Given the description of an element on the screen output the (x, y) to click on. 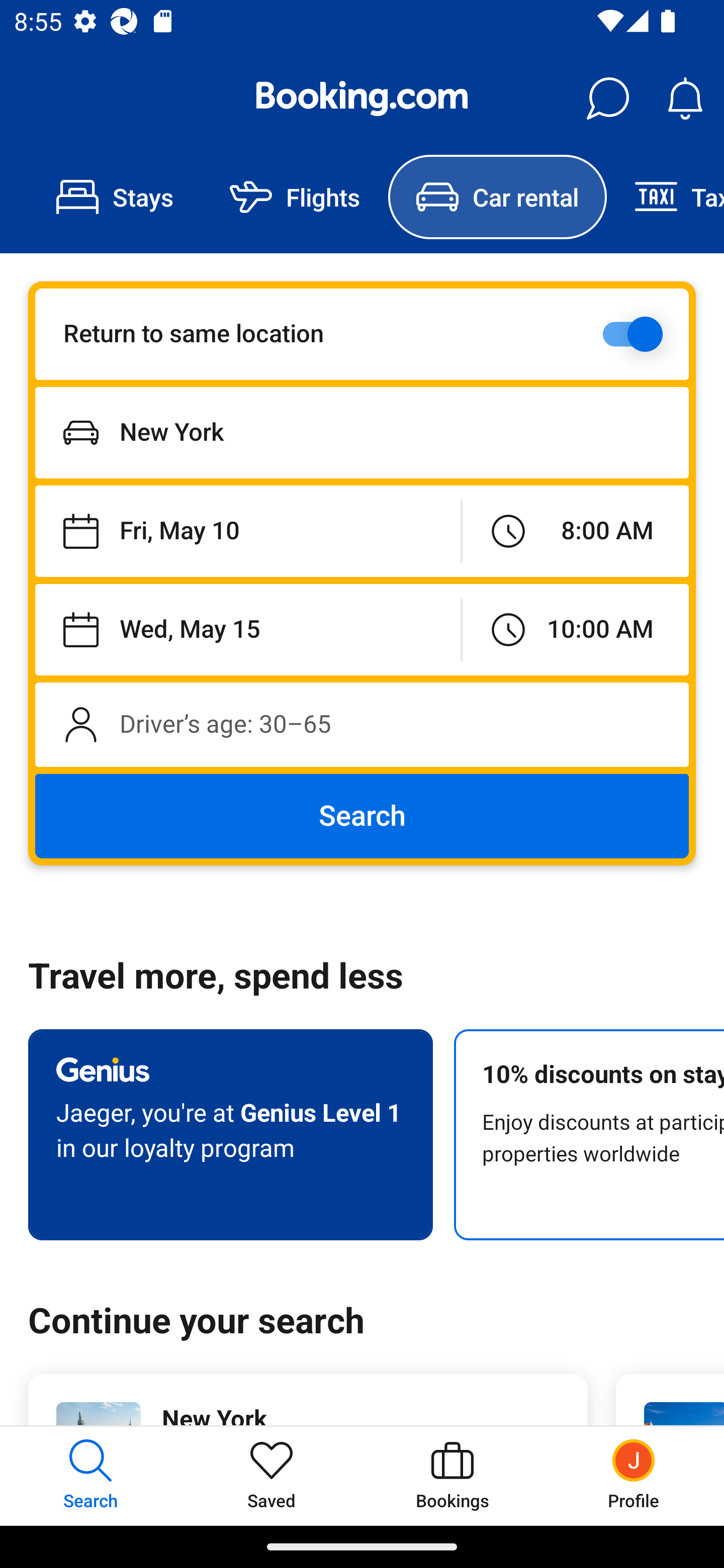
Messages (607, 98)
Notifications (685, 98)
Stays (114, 197)
Flights (294, 197)
Car rental (497, 197)
Taxi (665, 197)
Pick-up location: Text(name=New York) (361, 432)
Pick-up date: 2024-05-10 (247, 531)
Pick-up time: 08:00:00.000 (575, 531)
Drop-off date: 2024-05-15 (247, 629)
Drop-off time: 10:00:00.000 (575, 629)
Enter the driver's age (361, 724)
Search (361, 815)
Saved (271, 1475)
Bookings (452, 1475)
Profile (633, 1475)
